Given the description of an element on the screen output the (x, y) to click on. 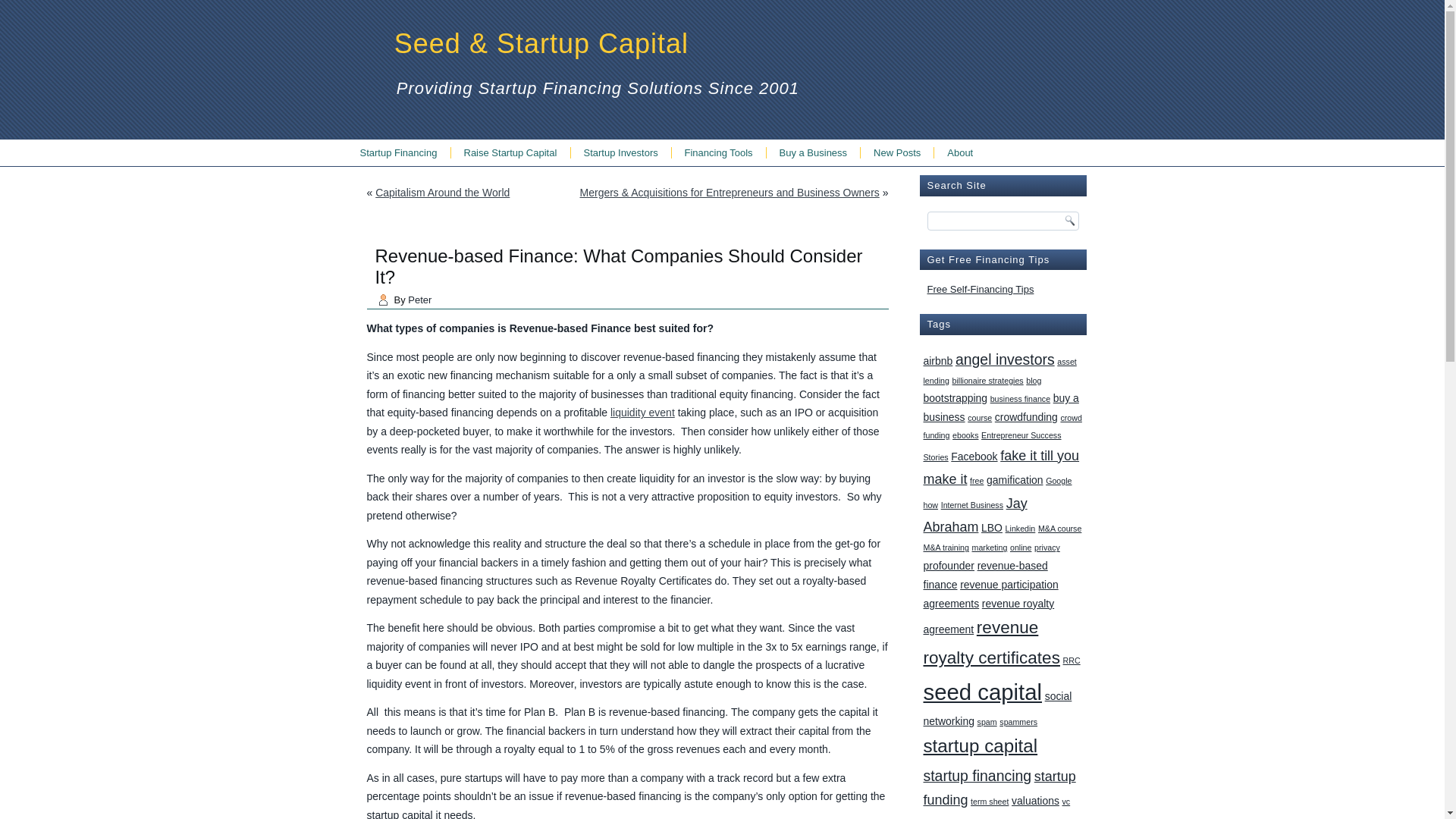
Raise Startup Capital (509, 152)
Buy a Business (812, 152)
New Posts (896, 152)
Startup Financing (398, 152)
Financing Tools (718, 152)
About (959, 152)
Startup Investors (619, 152)
Raise Startup Capital (509, 152)
Startup Financing (398, 152)
